Given the description of an element on the screen output the (x, y) to click on. 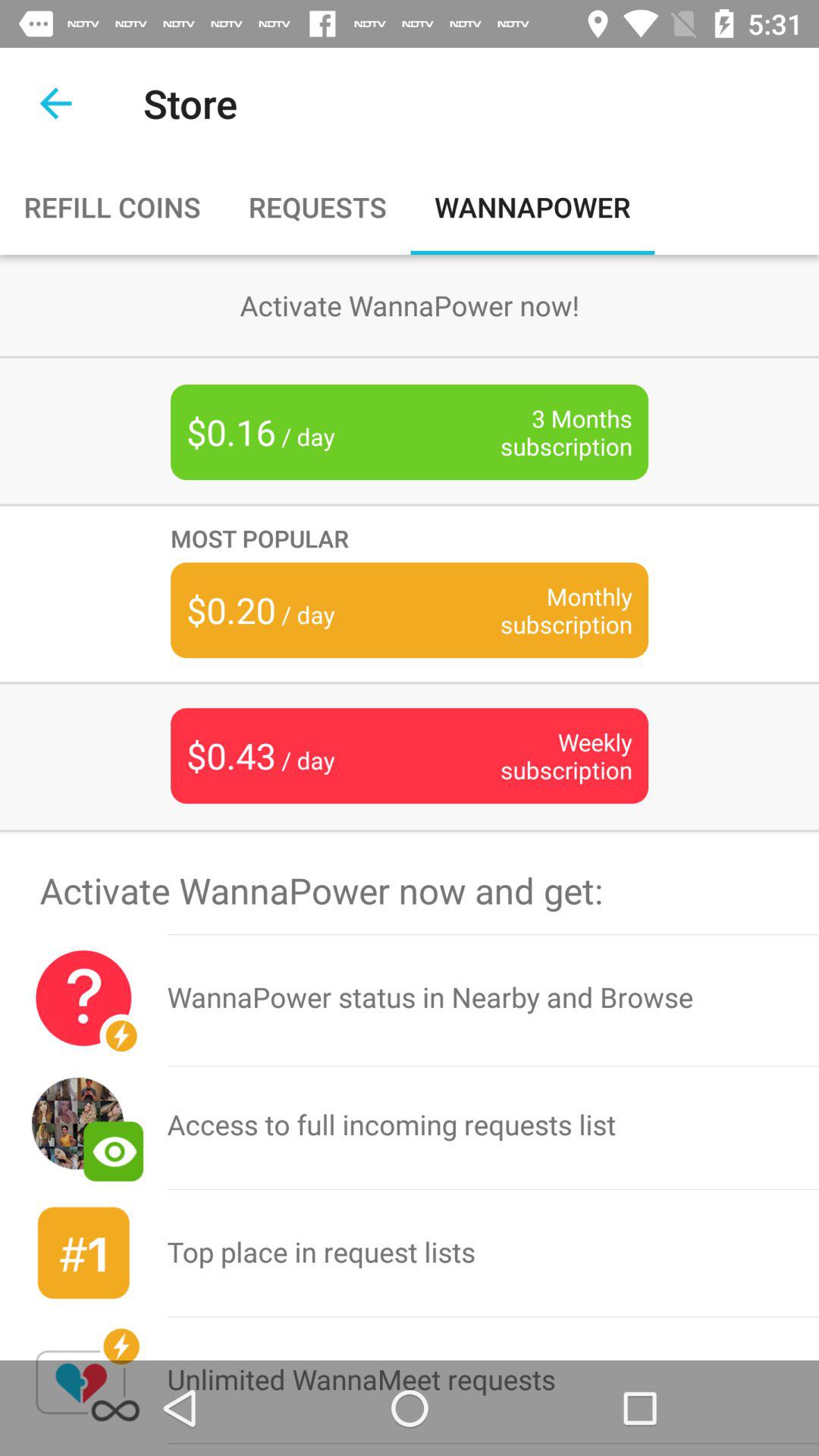
turn off the icon to the left of the store icon (55, 103)
